Given the description of an element on the screen output the (x, y) to click on. 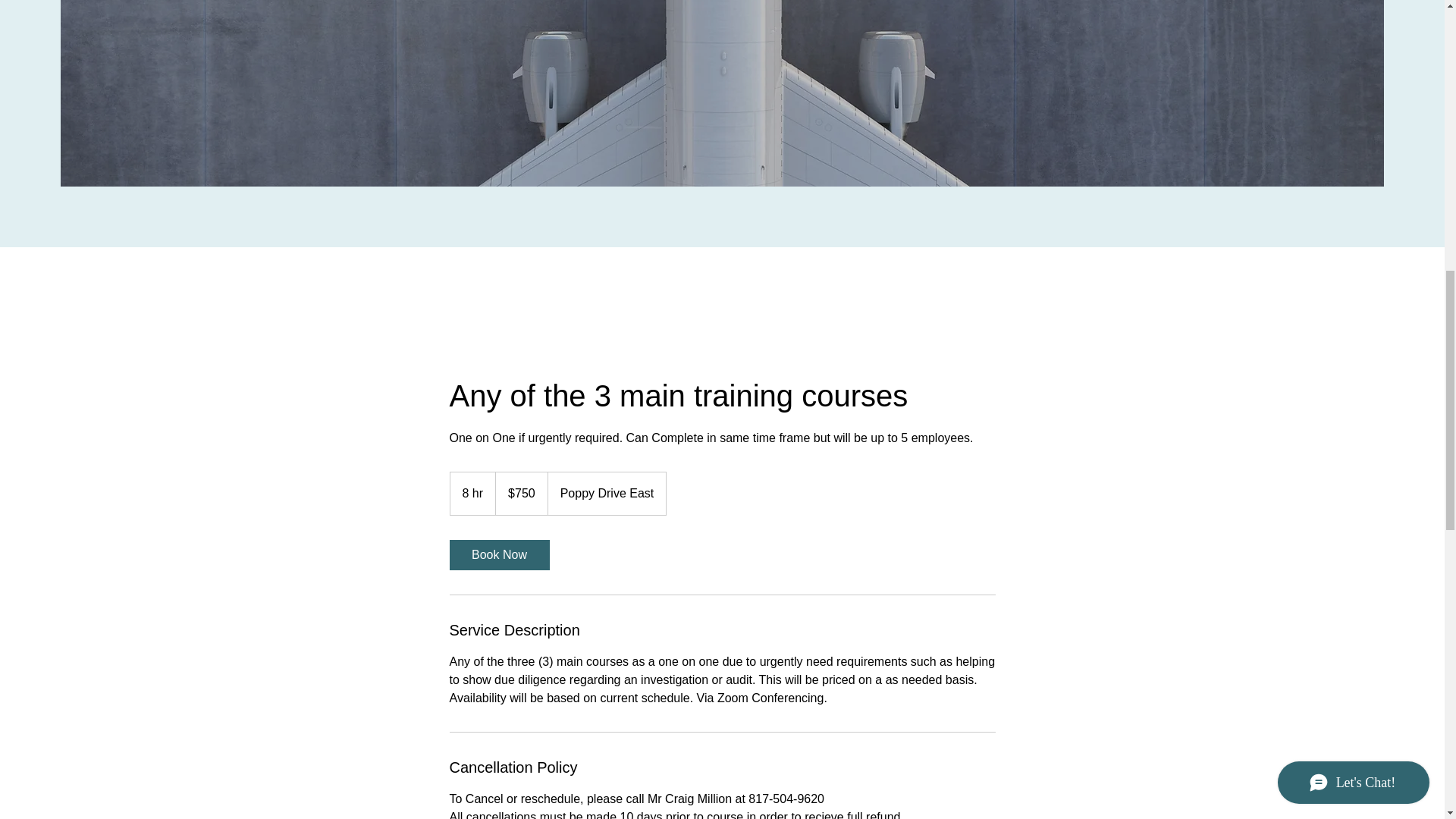
Book Now (498, 554)
